Given the description of an element on the screen output the (x, y) to click on. 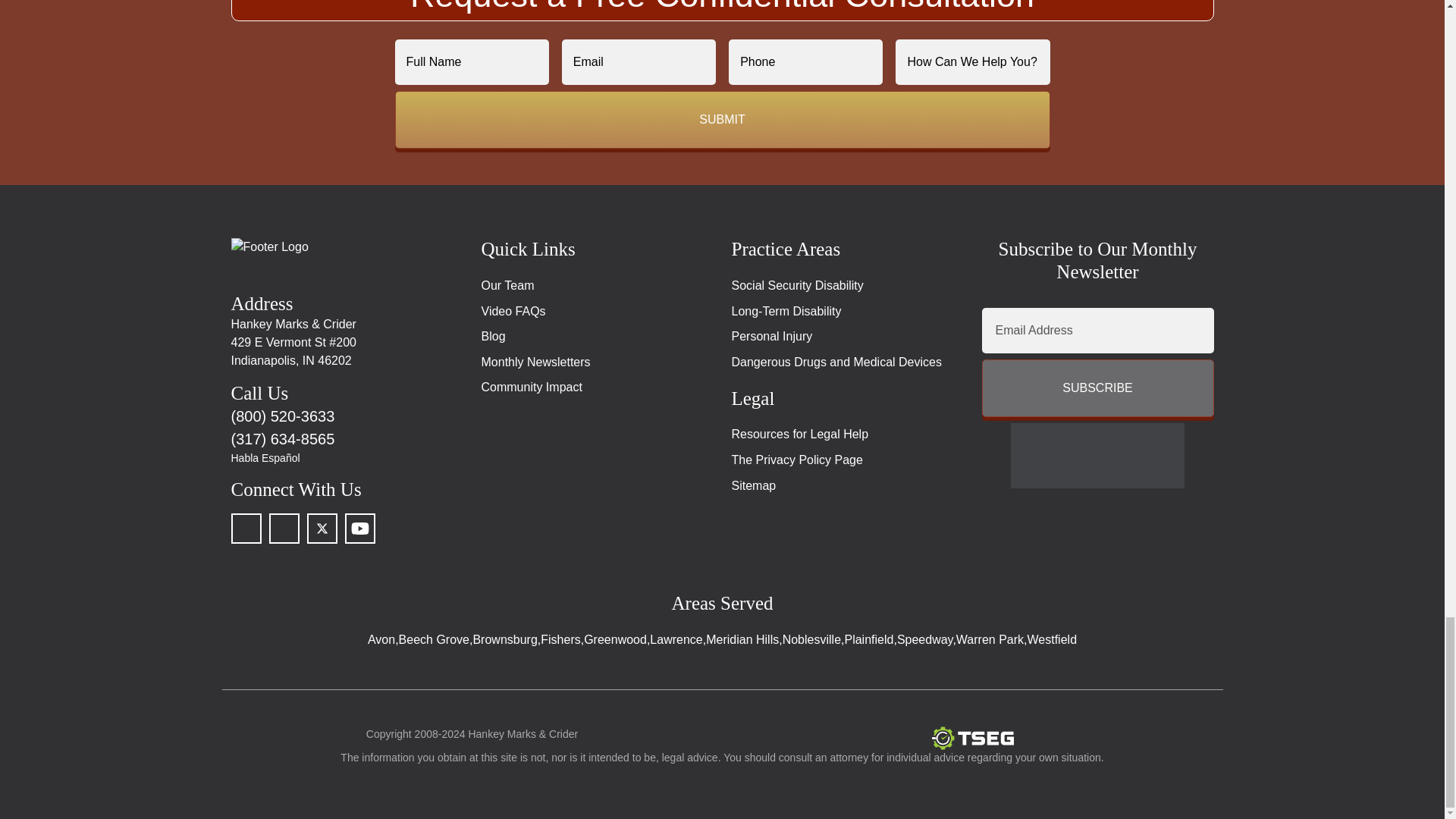
Submit (721, 119)
Subscribe (1096, 387)
Spanish (346, 458)
